Given the description of an element on the screen output the (x, y) to click on. 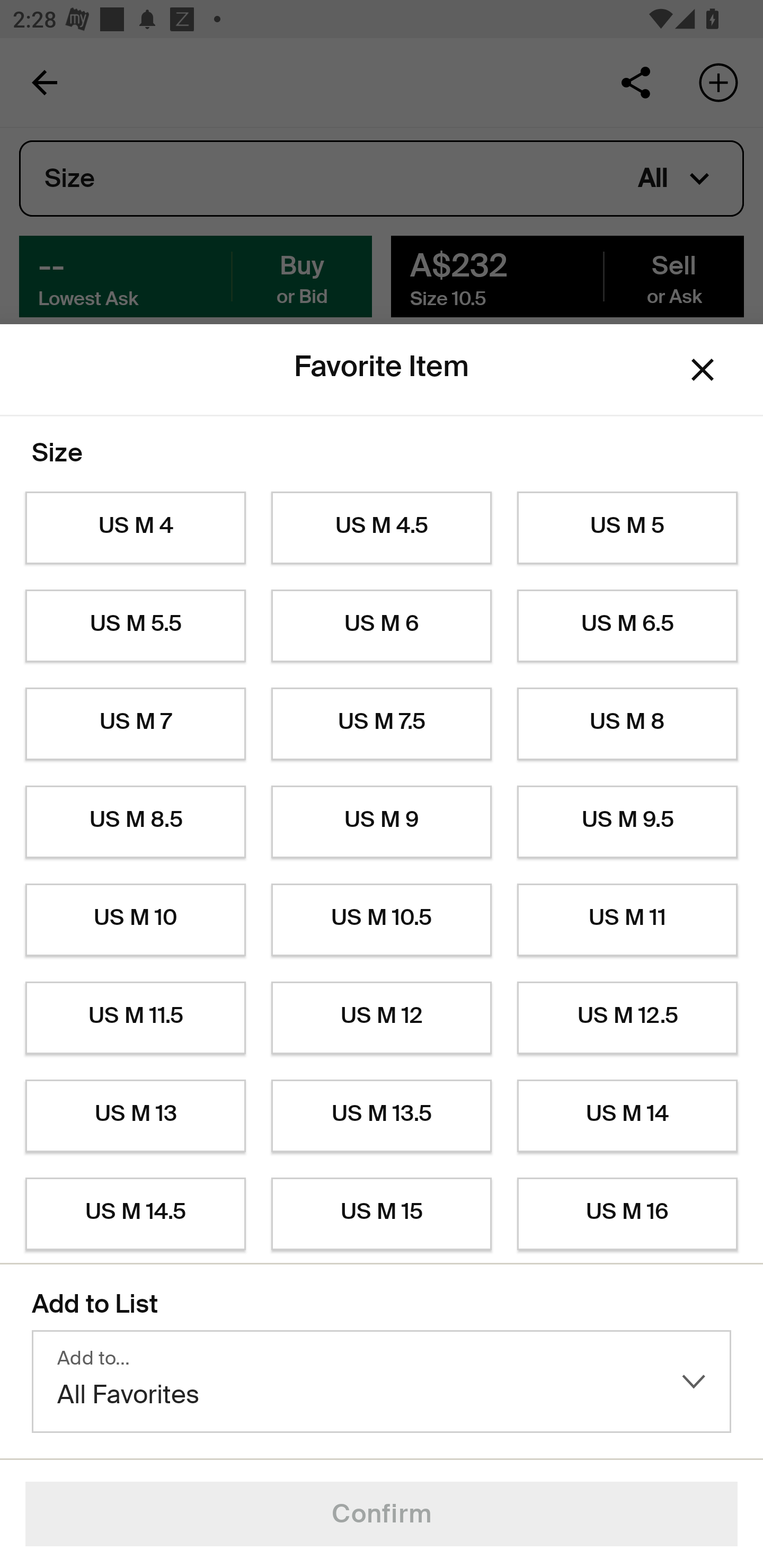
Dismiss (702, 368)
US M 4 (135, 527)
US M 4.5 (381, 527)
US M 5 (627, 527)
US M 5.5 (135, 626)
US M 6 (381, 626)
US M 6.5 (627, 626)
US M 7 (135, 724)
US M 7.5 (381, 724)
US M 8 (627, 724)
US M 8.5 (135, 822)
US M 9 (381, 822)
US M 9.5 (627, 822)
US M 10 (135, 919)
US M 10.5 (381, 919)
US M 11 (627, 919)
US M 11.5 (135, 1018)
US M 12 (381, 1018)
US M 12.5 (627, 1018)
US M 13 (135, 1116)
US M 13.5 (381, 1116)
US M 14 (627, 1116)
US M 14.5 (135, 1214)
US M 15 (381, 1214)
US M 16 (627, 1214)
Add to… All Favorites (381, 1381)
Confirm (381, 1513)
